Given the description of an element on the screen output the (x, y) to click on. 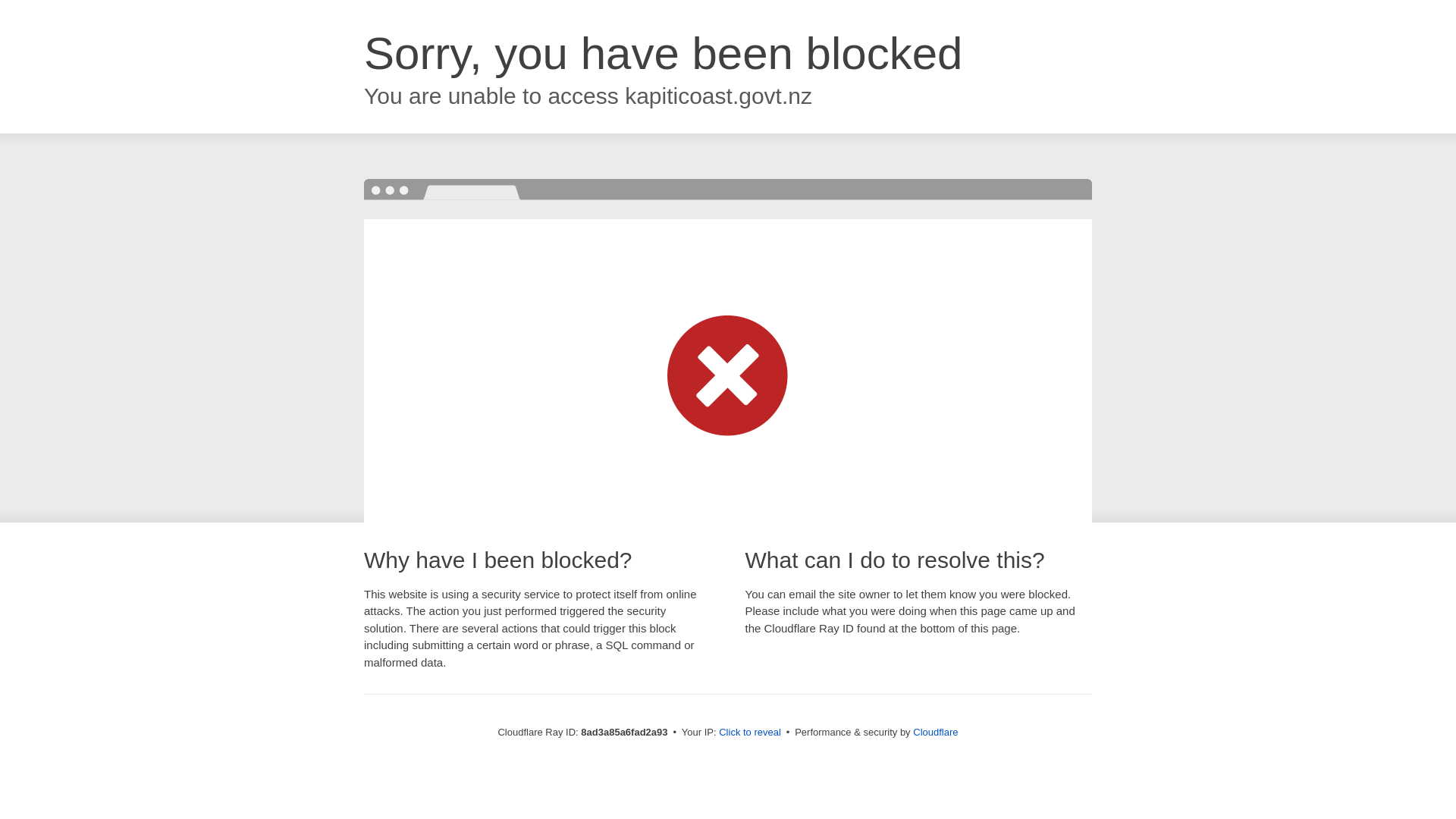
Click to reveal (749, 732)
Cloudflare (935, 731)
